Given the description of an element on the screen output the (x, y) to click on. 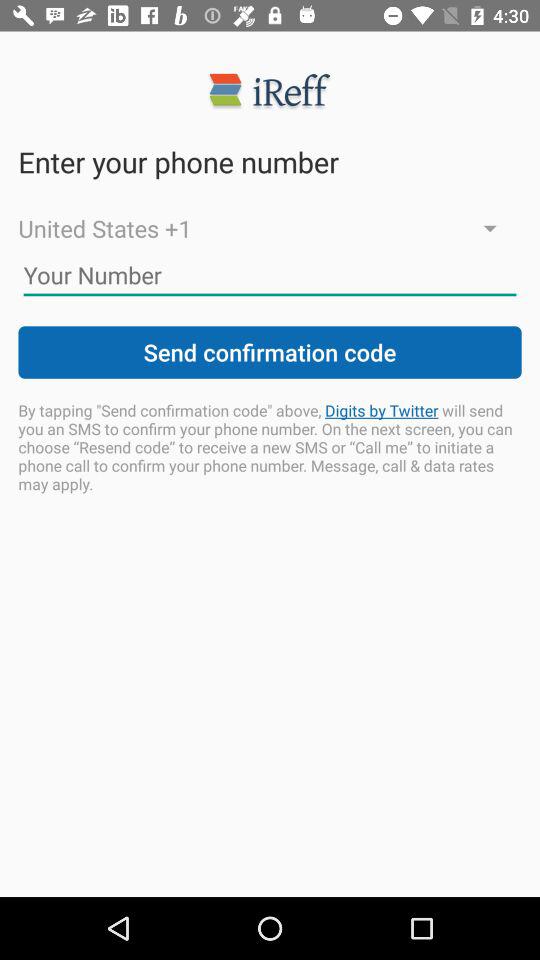
press by tapping send icon (269, 446)
